Given the description of an element on the screen output the (x, y) to click on. 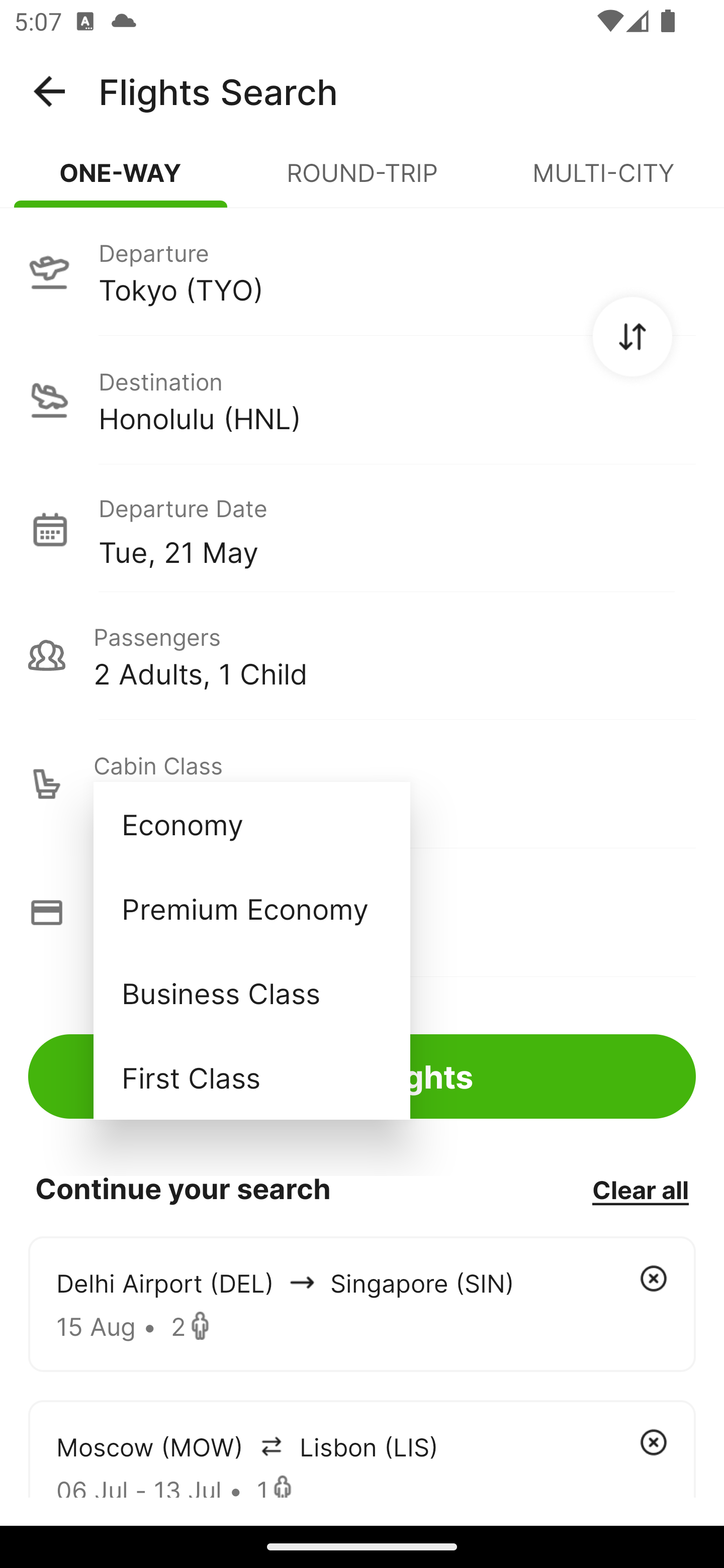
Economy (251, 824)
Premium Economy (251, 908)
Business Class (251, 992)
First Class (251, 1076)
